Given the description of an element on the screen output the (x, y) to click on. 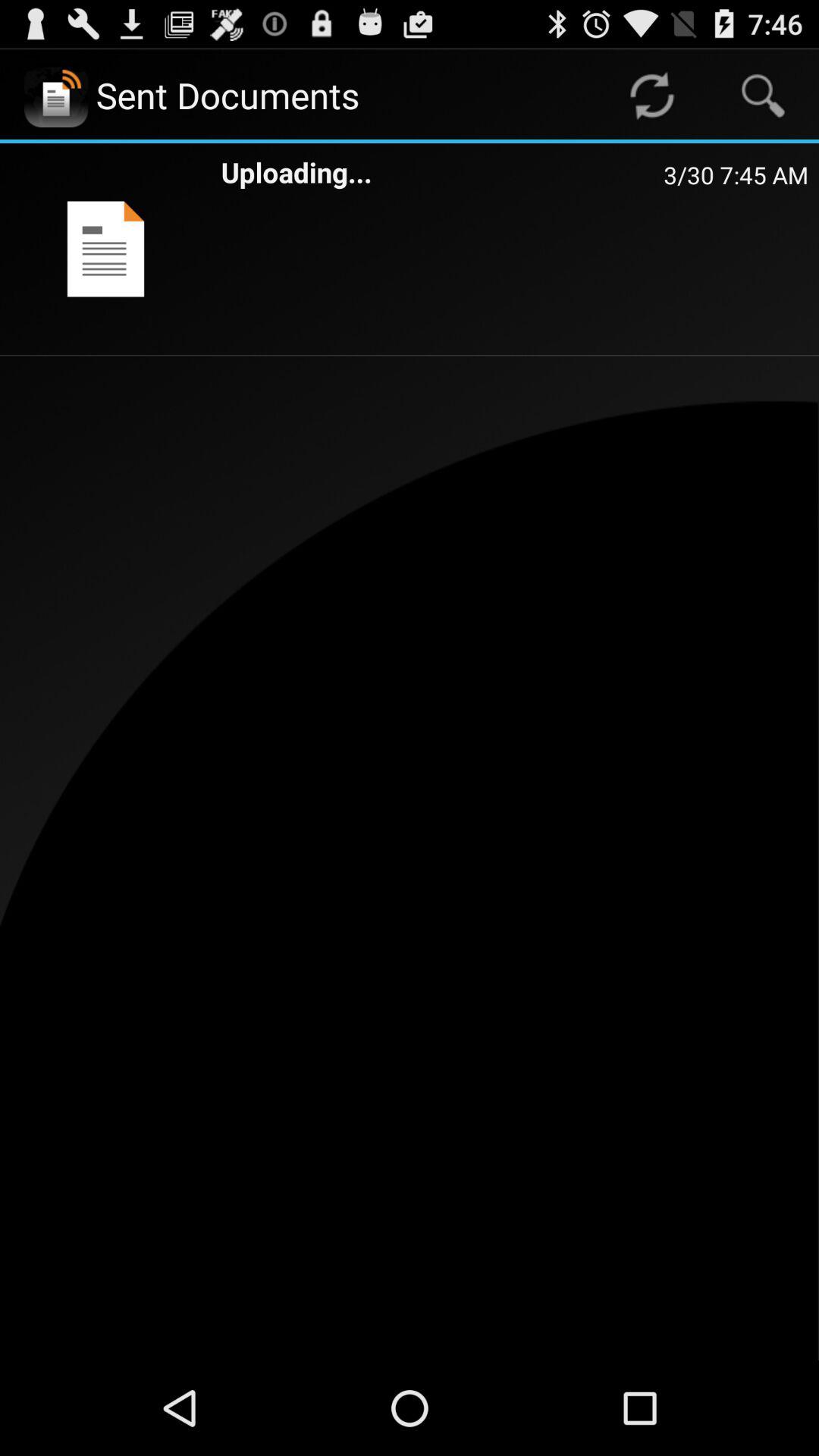
swipe until uploading... app (442, 172)
